Given the description of an element on the screen output the (x, y) to click on. 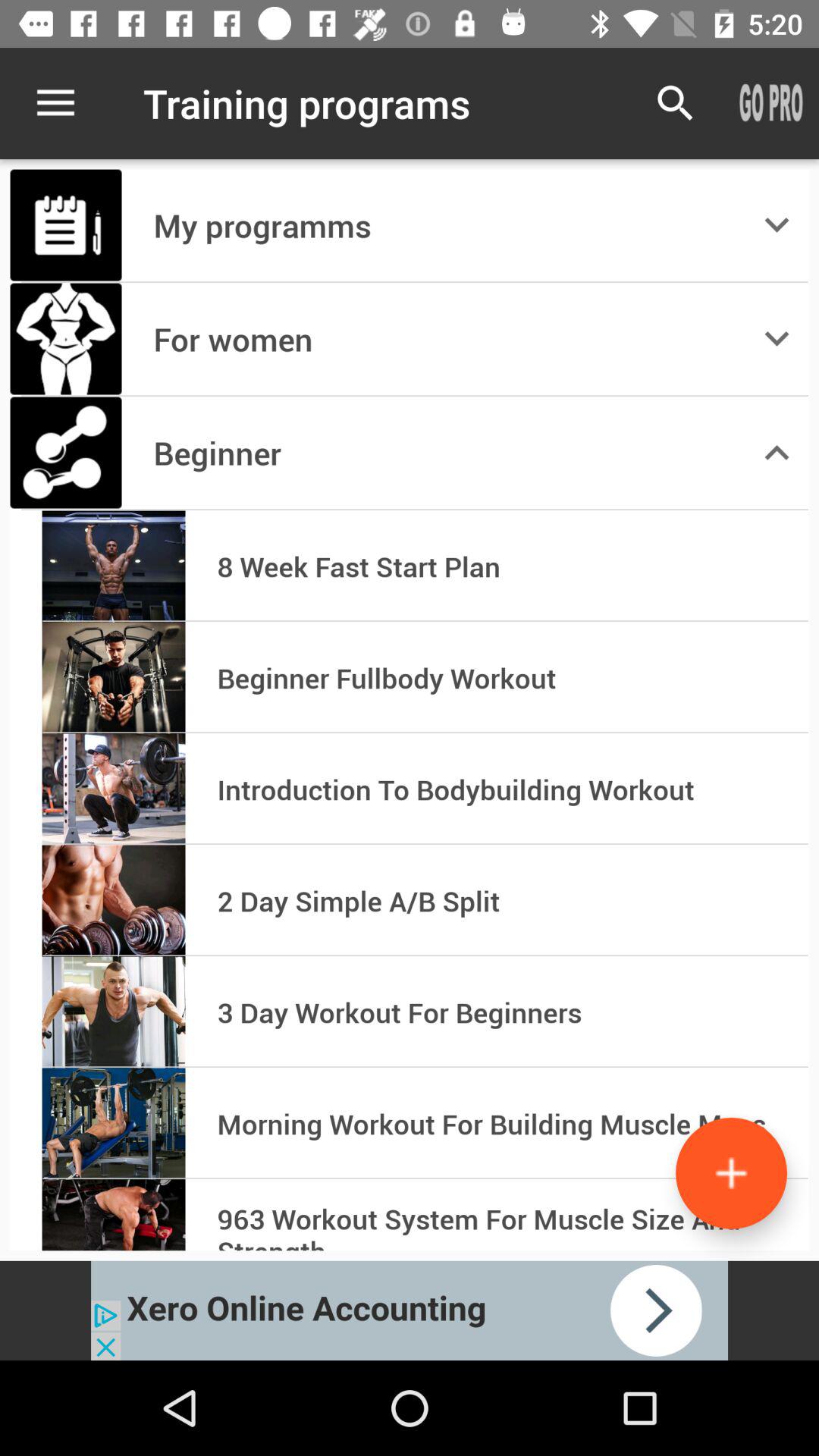
select the add more icon which is on bottom (731, 1173)
select the icon left to the text my programms (66, 225)
select the image which is left to text for women (66, 338)
select the image which is to the left of 3 day workout for beginners (113, 1012)
click on the image which is left hand side of the text 2 day simple ab split (113, 900)
select the left 4th image body builder (113, 567)
